Given the description of an element on the screen output the (x, y) to click on. 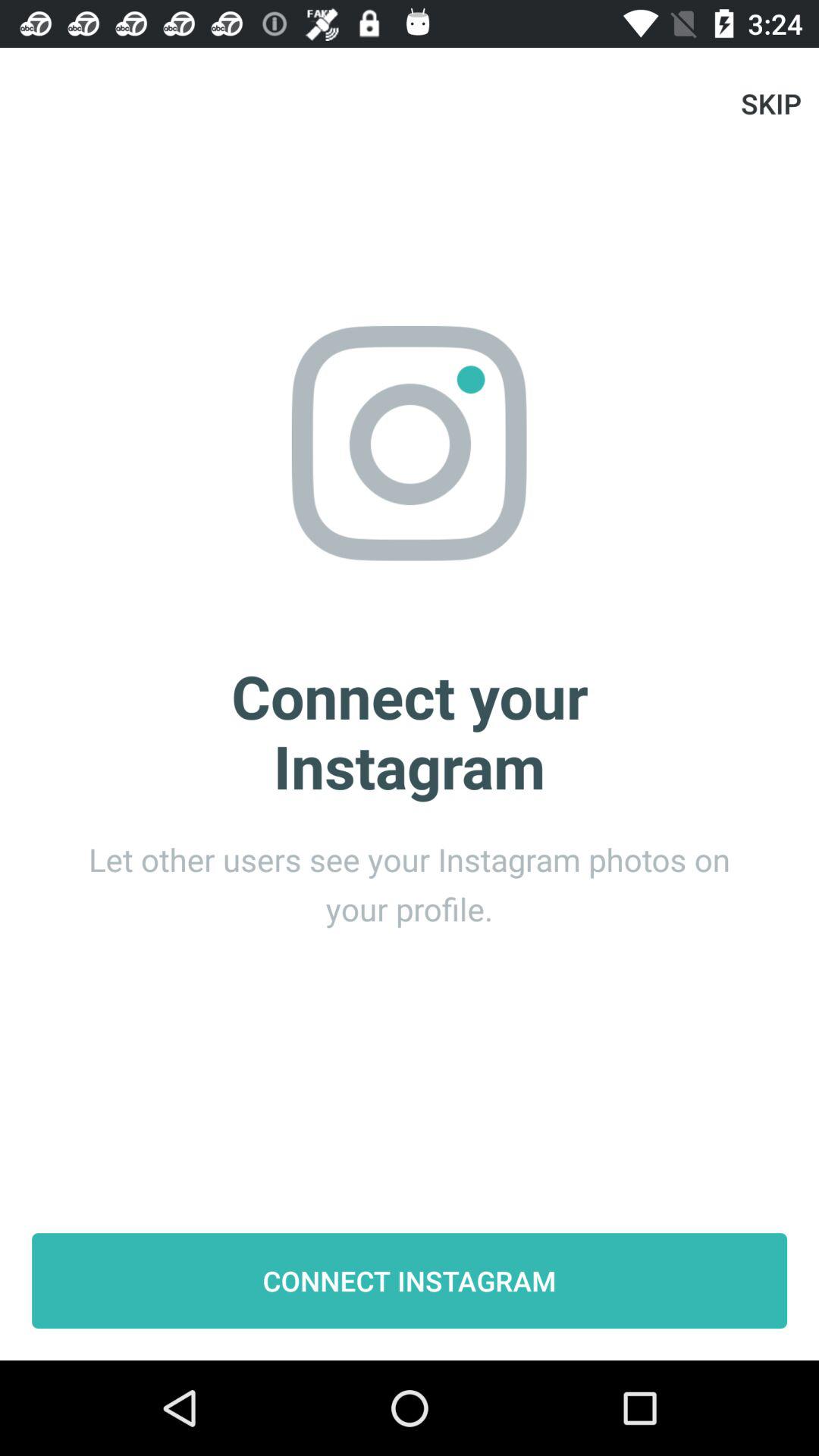
select the skip at the top right corner (771, 103)
